Given the description of an element on the screen output the (x, y) to click on. 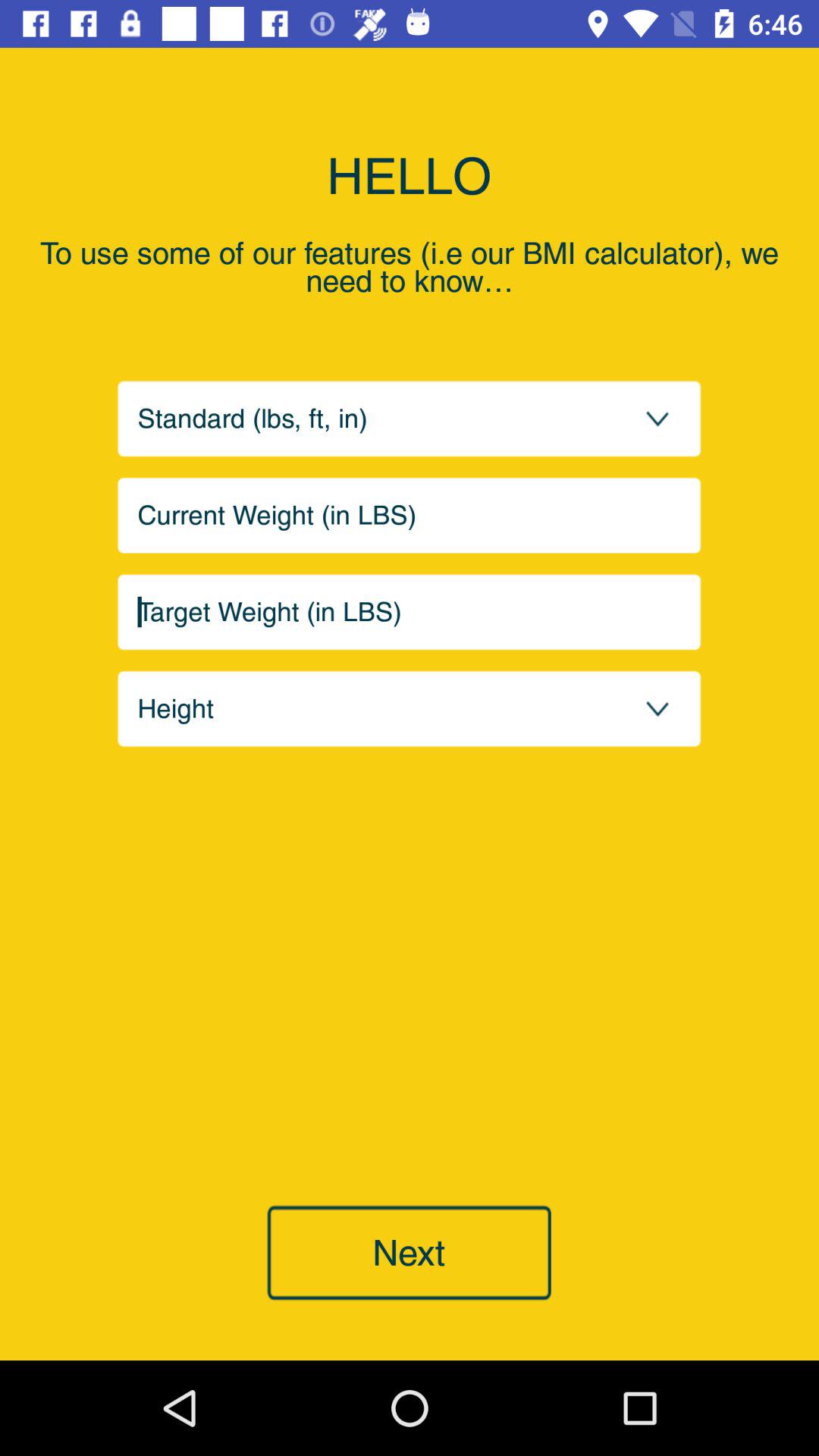
enter target weight (409, 611)
